Given the description of an element on the screen output the (x, y) to click on. 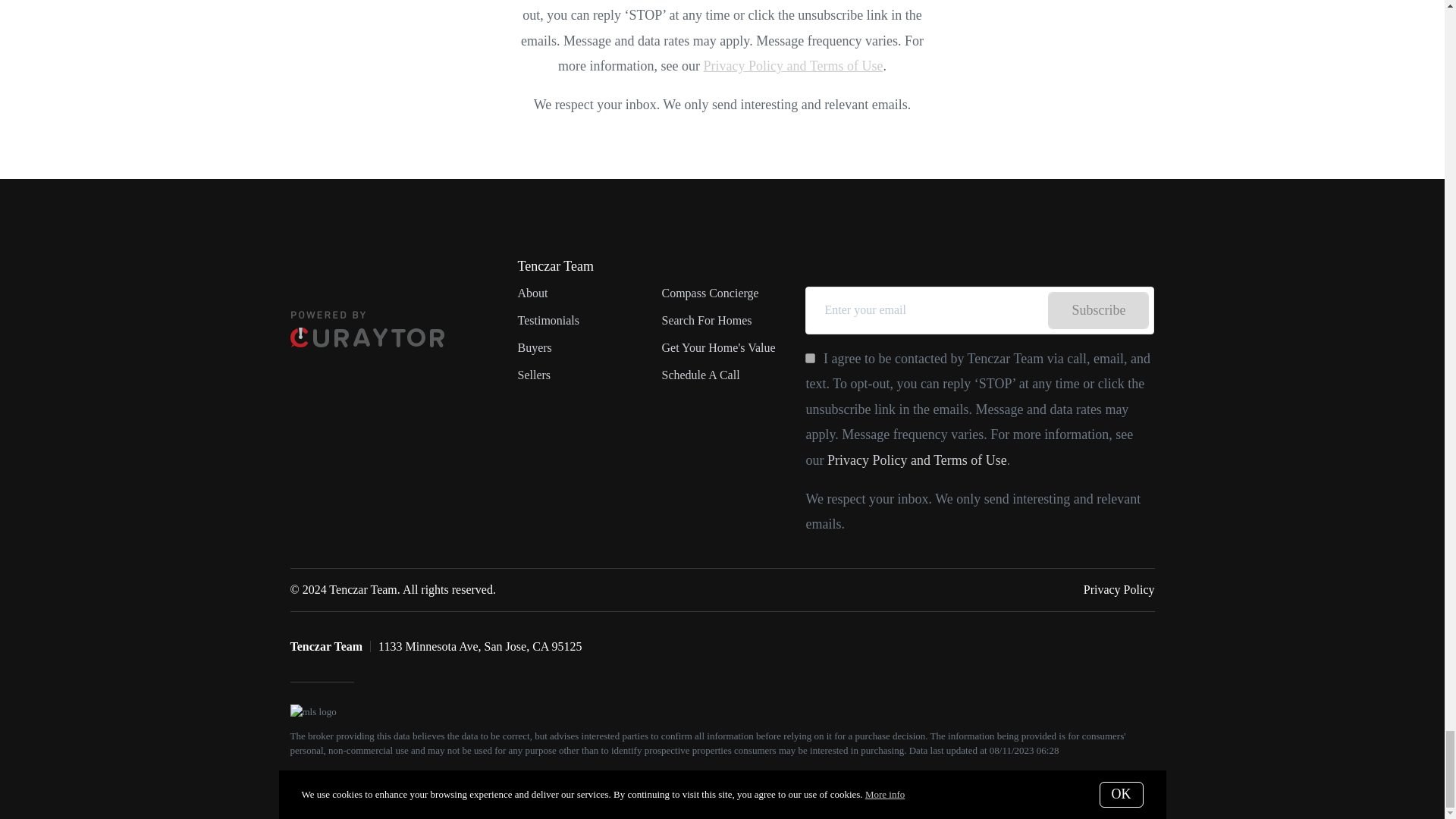
curaytor-horizontal (366, 329)
on (810, 357)
